Given the description of an element on the screen output the (x, y) to click on. 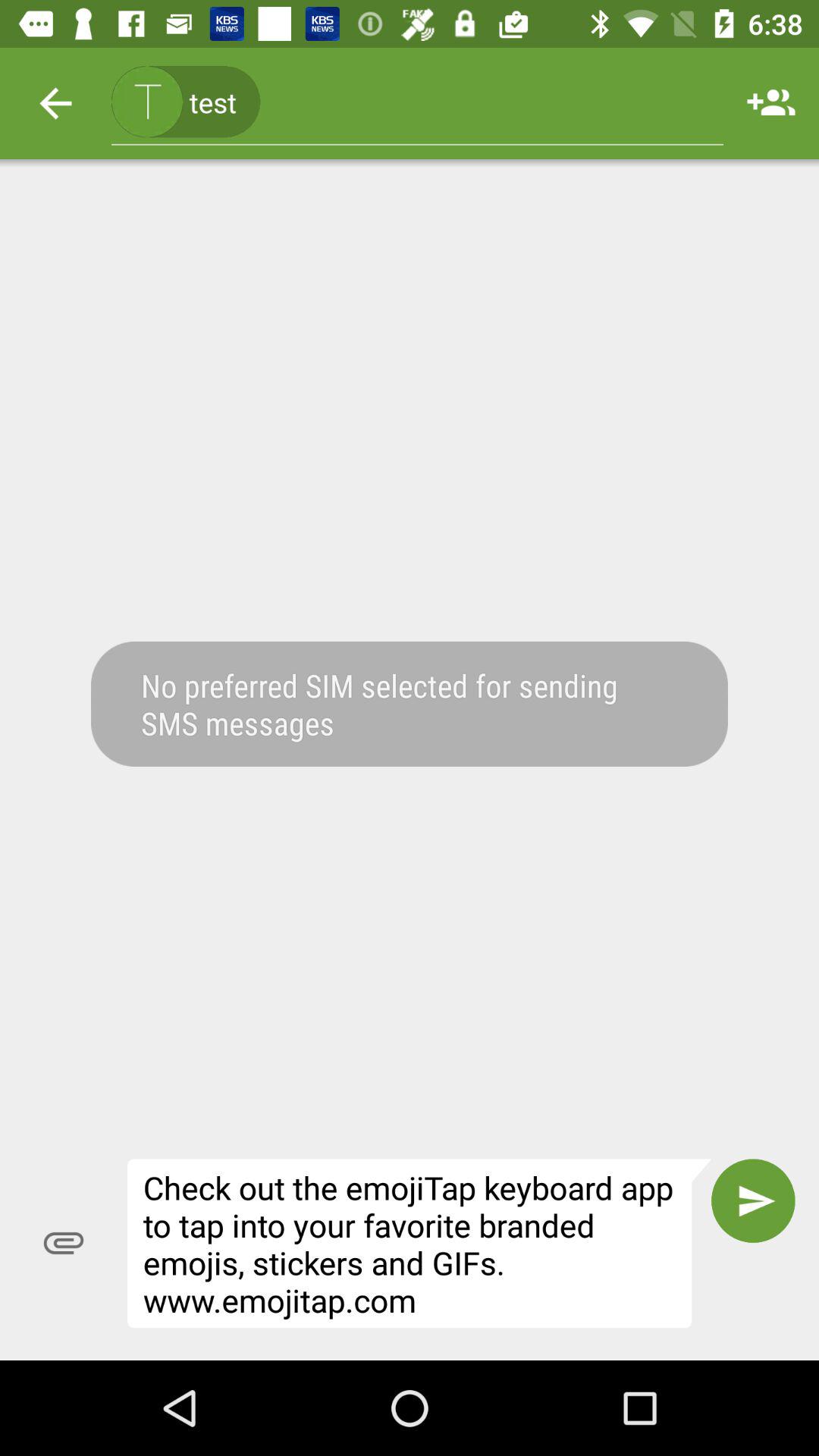
select icon next to check out the (753, 1200)
